Given the description of an element on the screen output the (x, y) to click on. 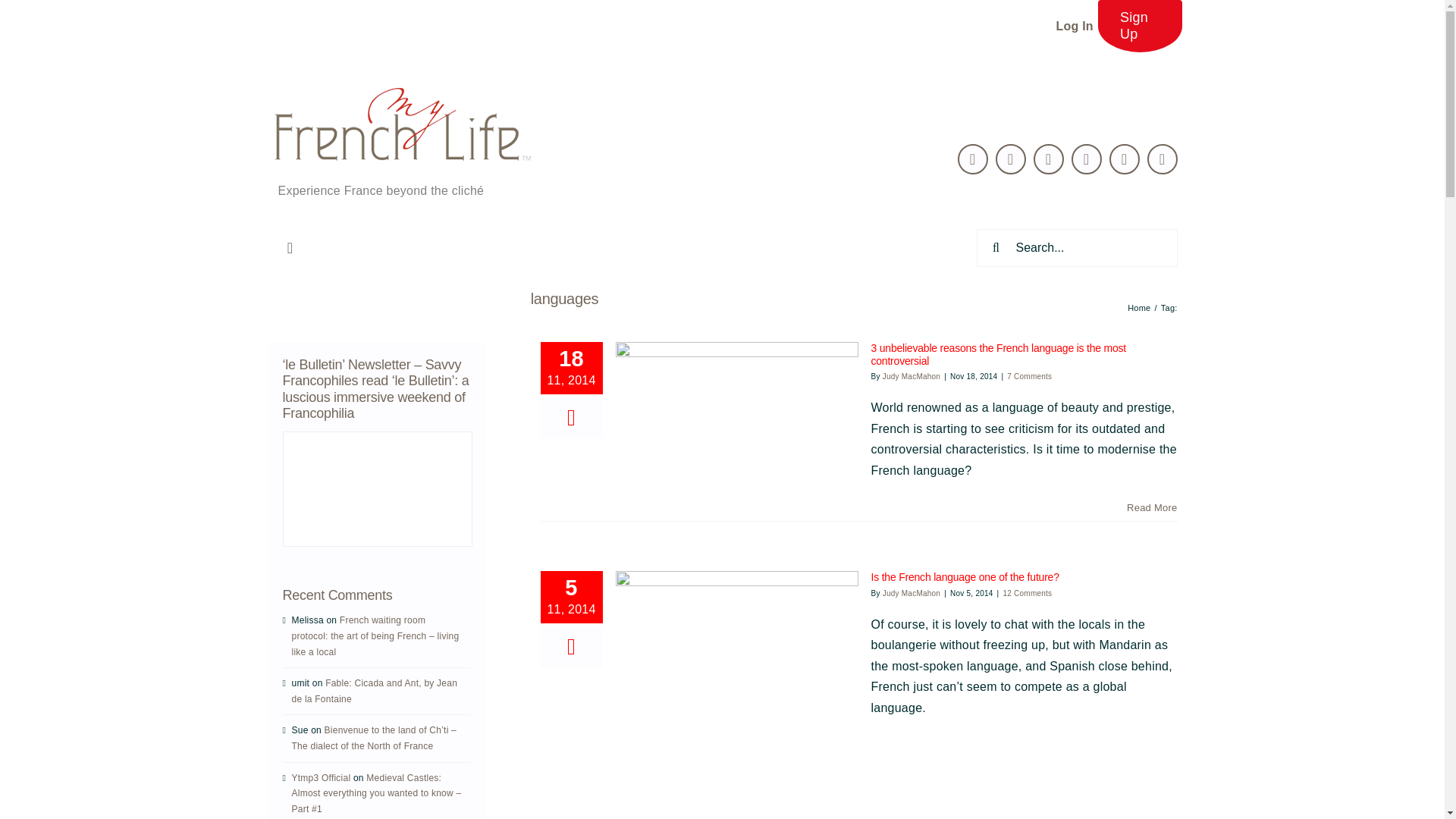
Is the French language one of the future? (964, 576)
Judy MacMahon (911, 592)
7 Comments (1029, 376)
Instagram (1162, 159)
YouTube (1124, 159)
X (973, 159)
LinkedIn (1048, 159)
Toggle Navigation (289, 247)
Pinterest (1086, 159)
Posts by Judy MacMahon (911, 376)
